Given the description of an element on the screen output the (x, y) to click on. 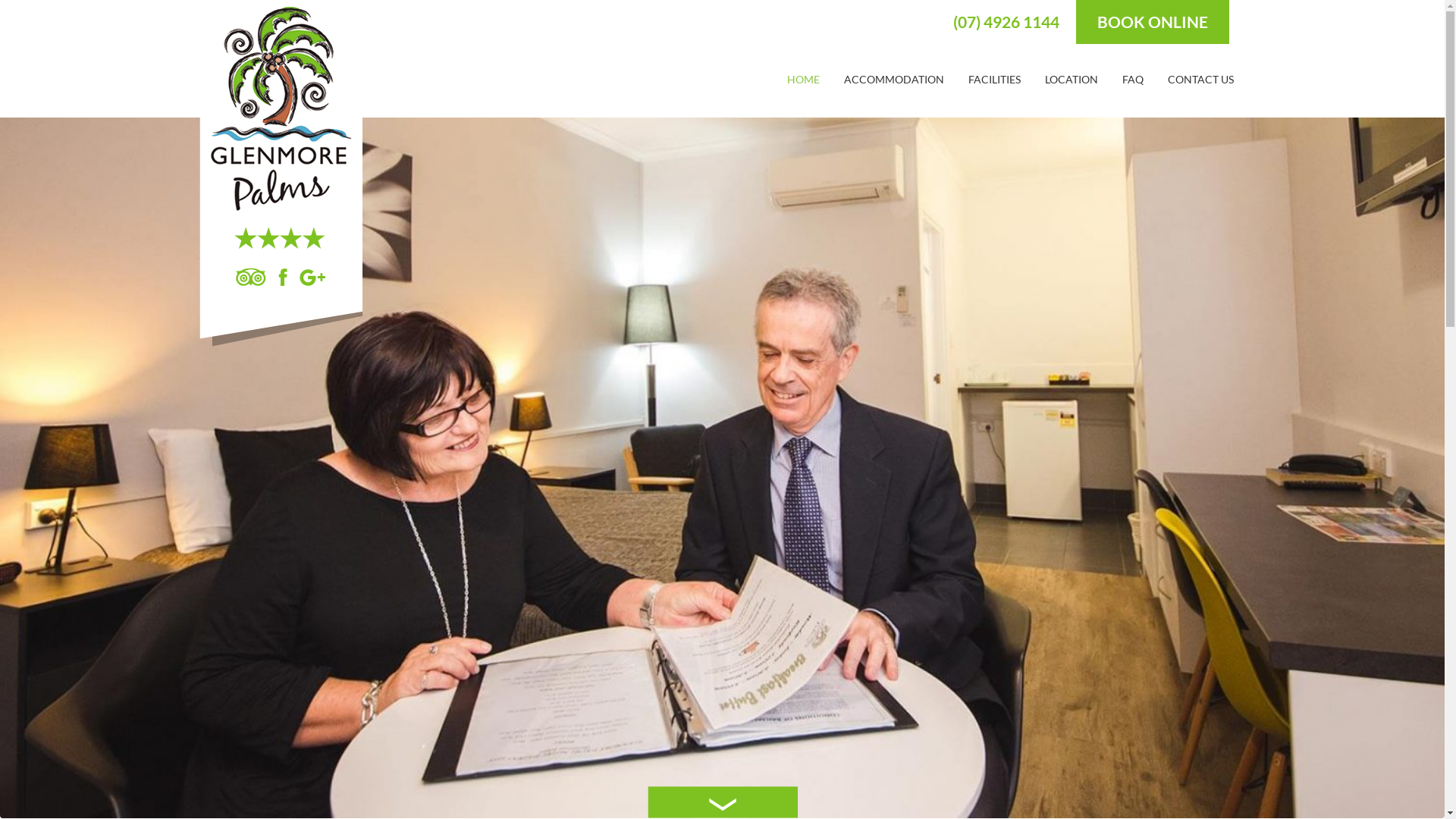
CONTACT US Element type: text (1200, 76)
FACILITIES Element type: text (993, 76)
Glenmore-Palms-Home-banner1 Element type: hover (722, 467)
ACCOMMODATION Element type: text (893, 76)
HOME Element type: text (803, 76)
FAQ Element type: text (1132, 76)
LOCATION Element type: text (1071, 76)
